Given the description of an element on the screen output the (x, y) to click on. 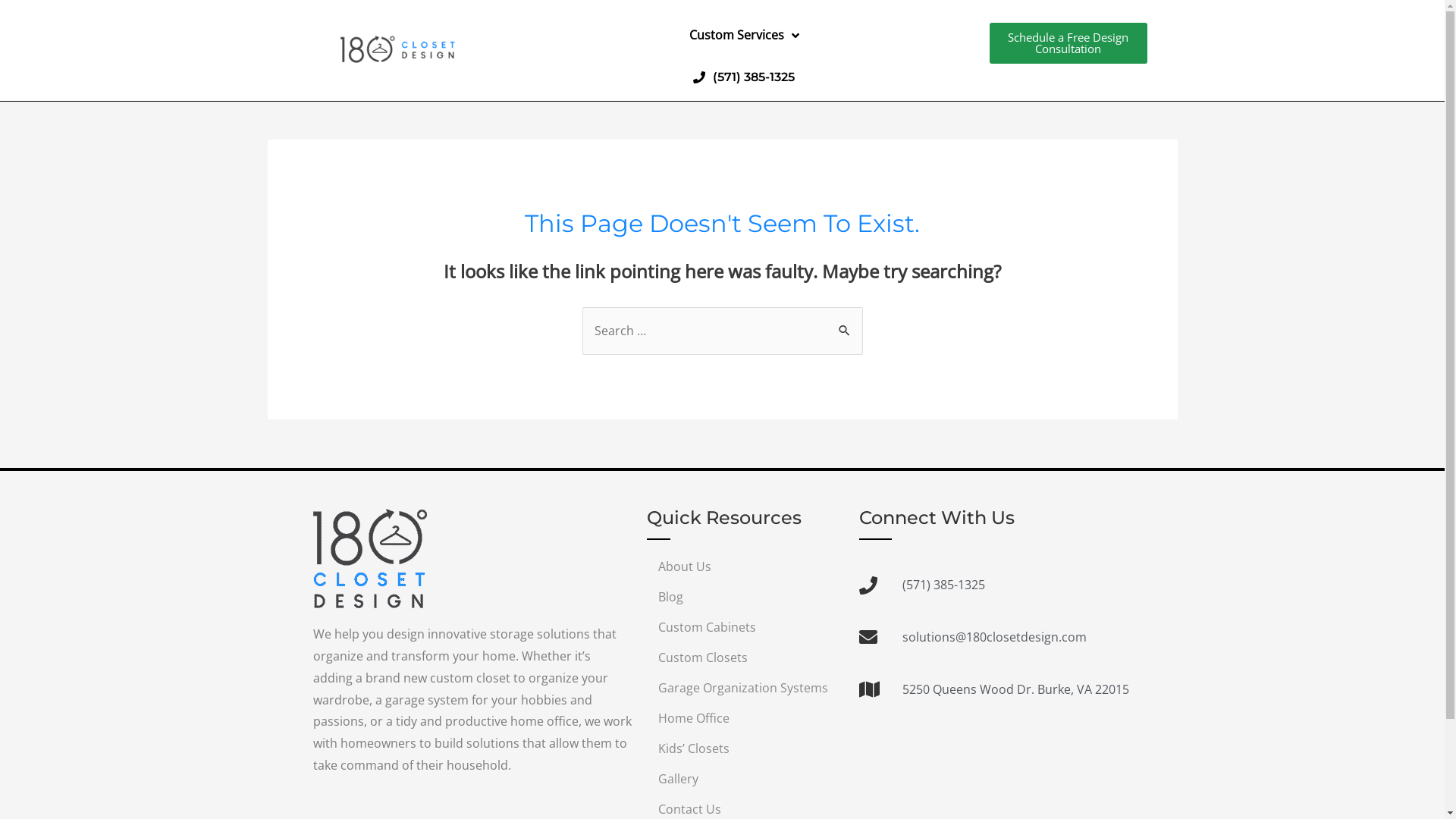
Custom Services Element type: text (743, 35)
Home Office Element type: text (744, 717)
Gallery Element type: text (744, 778)
Blog Element type: text (744, 596)
About Us Element type: text (744, 566)
Garage Organization Systems Element type: text (744, 687)
(571) 385-1325 Element type: text (994, 585)
Custom Closets Element type: text (744, 657)
(571) 385-1325 Element type: text (743, 77)
Search Element type: text (845, 325)
Custom Cabinets Element type: text (744, 626)
solutions@180closetdesign.com Element type: text (994, 637)
5250 Queens Wood Dr. Burke, VA 22015 Element type: text (994, 689)
Schedule a Free Design Consultation Element type: text (1067, 42)
